Given the description of an element on the screen output the (x, y) to click on. 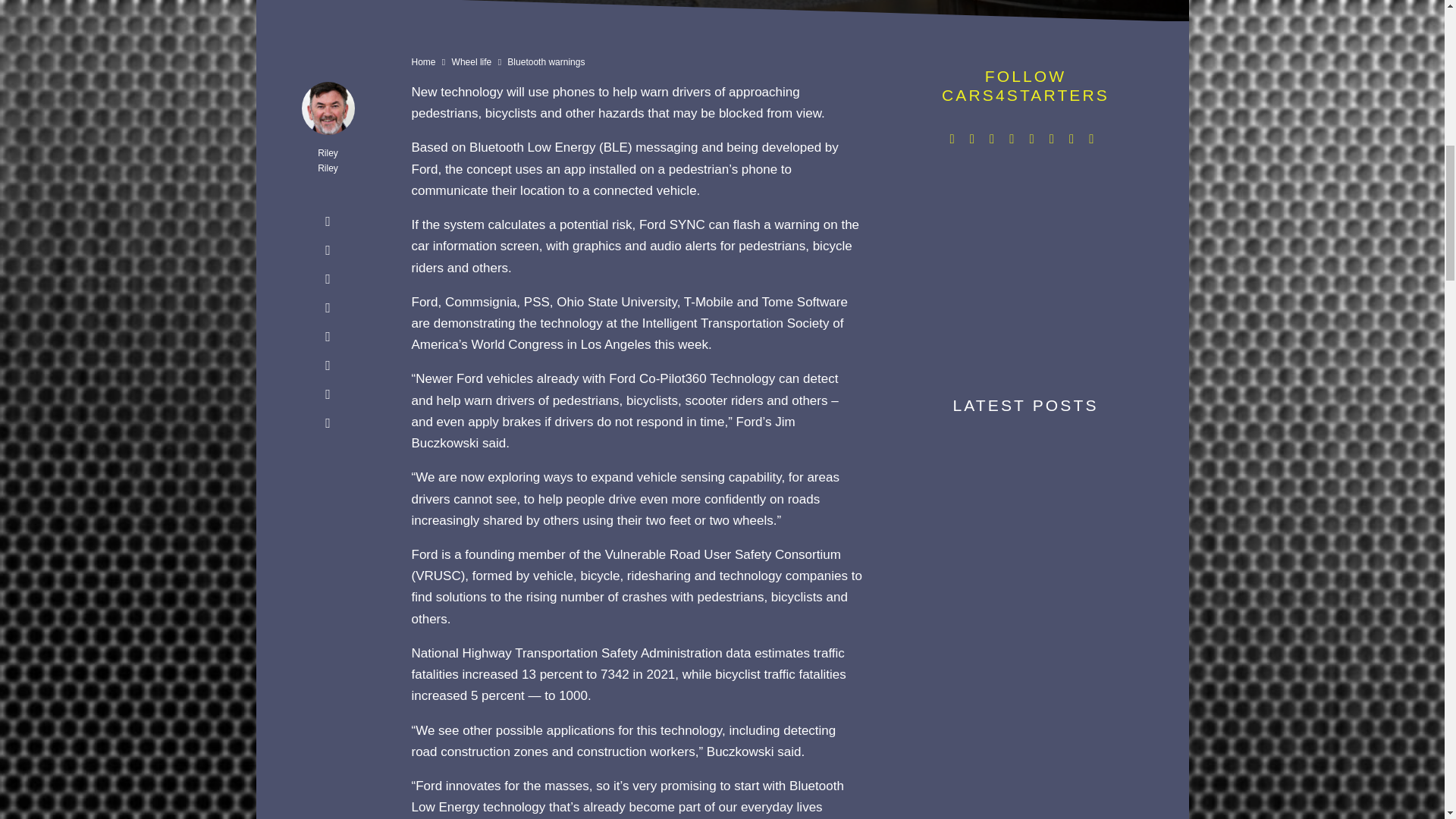
Home (422, 61)
Riley (328, 153)
Bluetooth warnings 6 (722, 20)
Wheel life (471, 61)
